Given the description of an element on the screen output the (x, y) to click on. 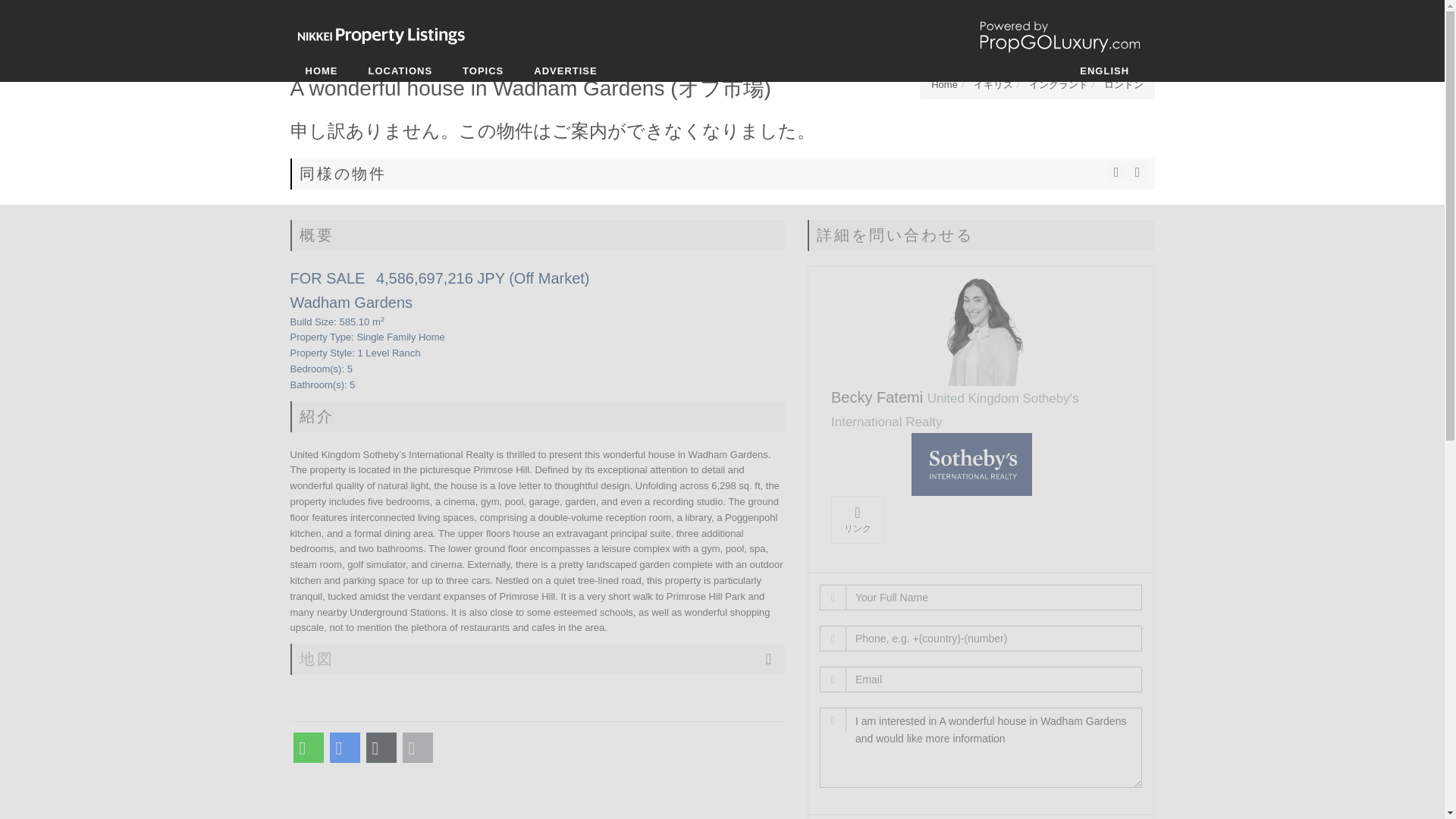
ADVERTISE (564, 71)
HOME (320, 71)
TOPICS (482, 71)
LOCATIONS (400, 71)
